Given the description of an element on the screen output the (x, y) to click on. 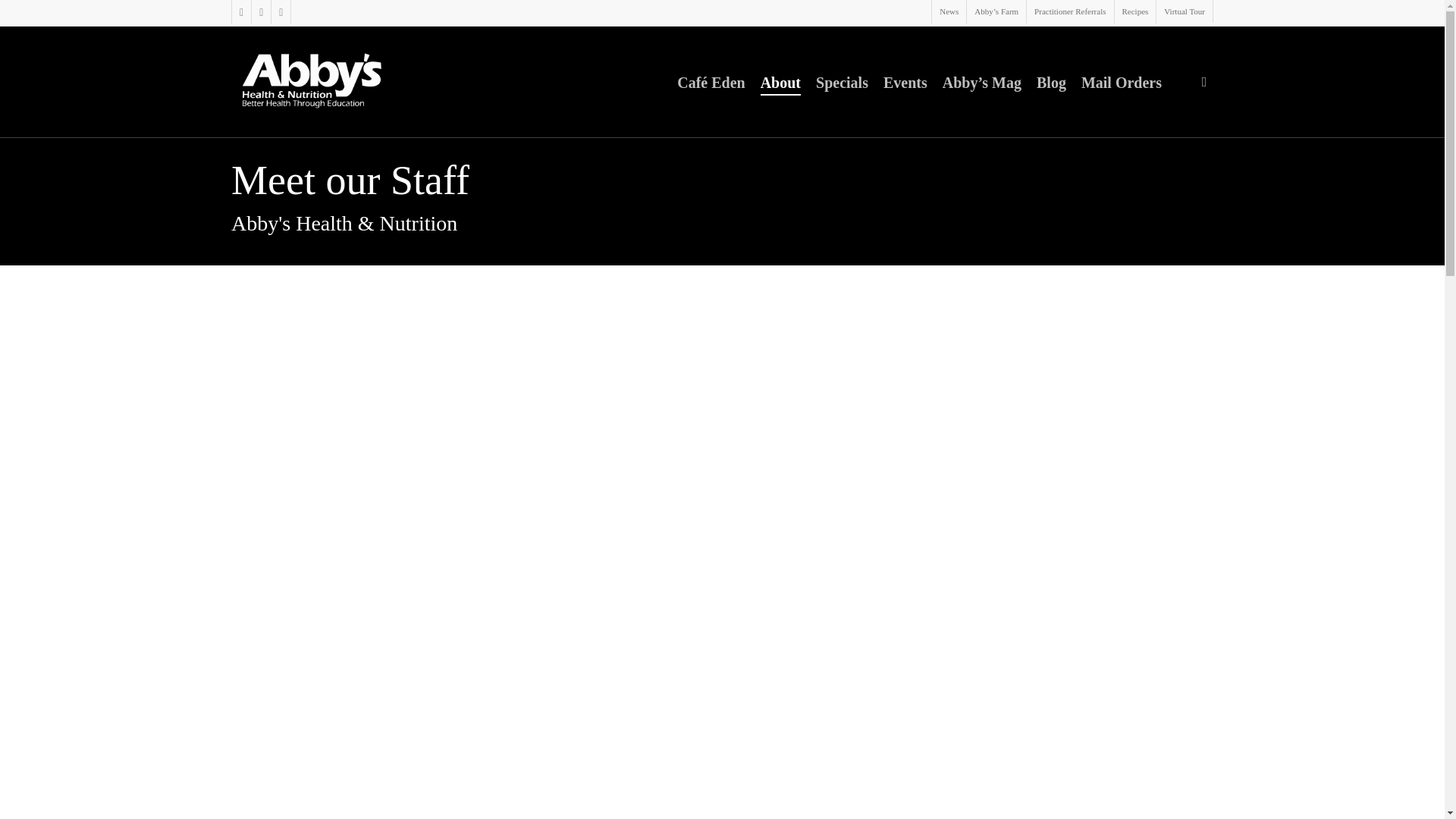
Recipes (1134, 11)
Events (905, 81)
Blog (1050, 81)
News (948, 11)
Virtual Tour (1184, 11)
Practitioner Referrals (1069, 11)
Specials (841, 81)
Mail Orders (1121, 81)
About (780, 81)
